Given the description of an element on the screen output the (x, y) to click on. 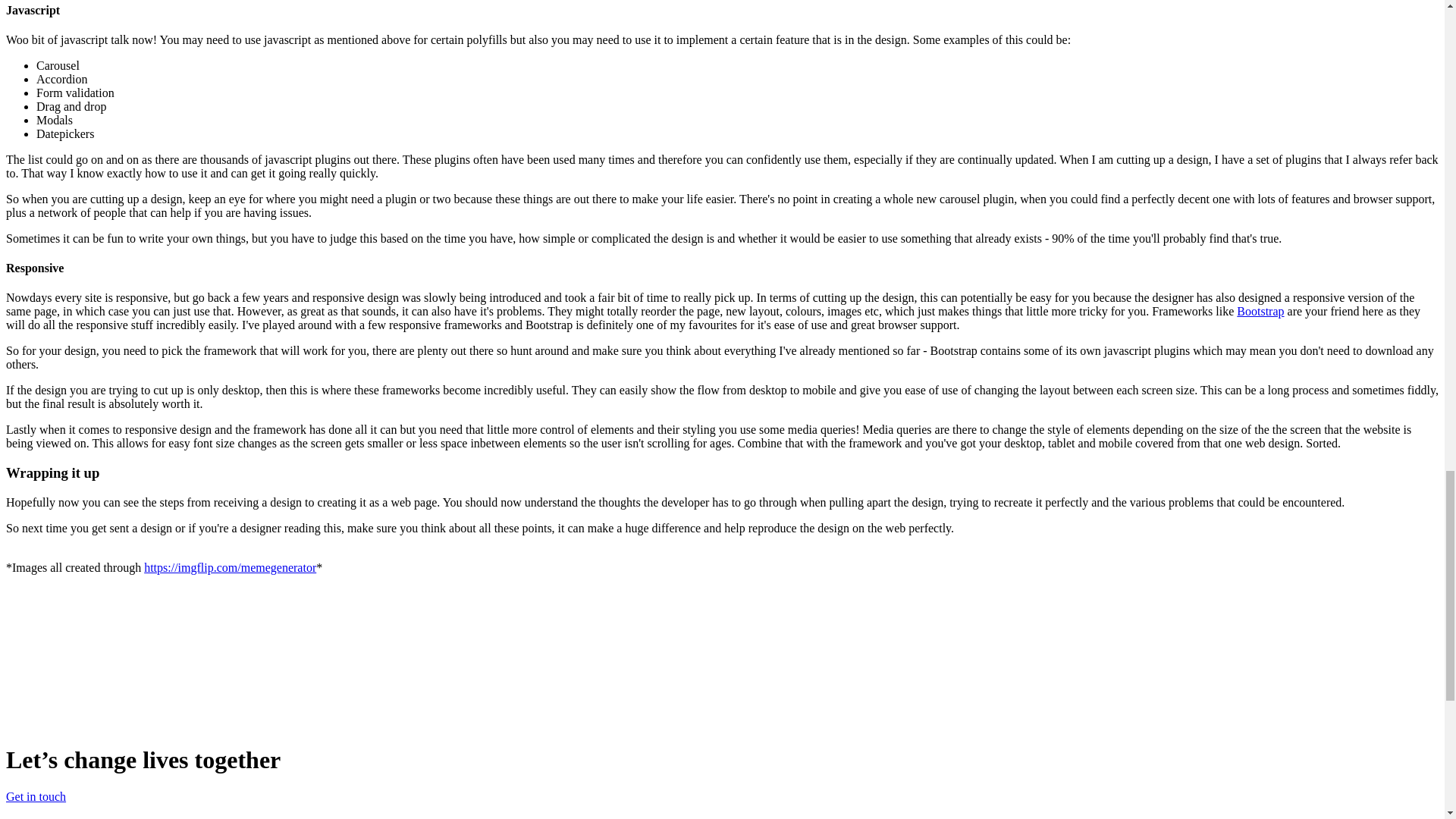
Bootstrap (1260, 310)
